Given the description of an element on the screen output the (x, y) to click on. 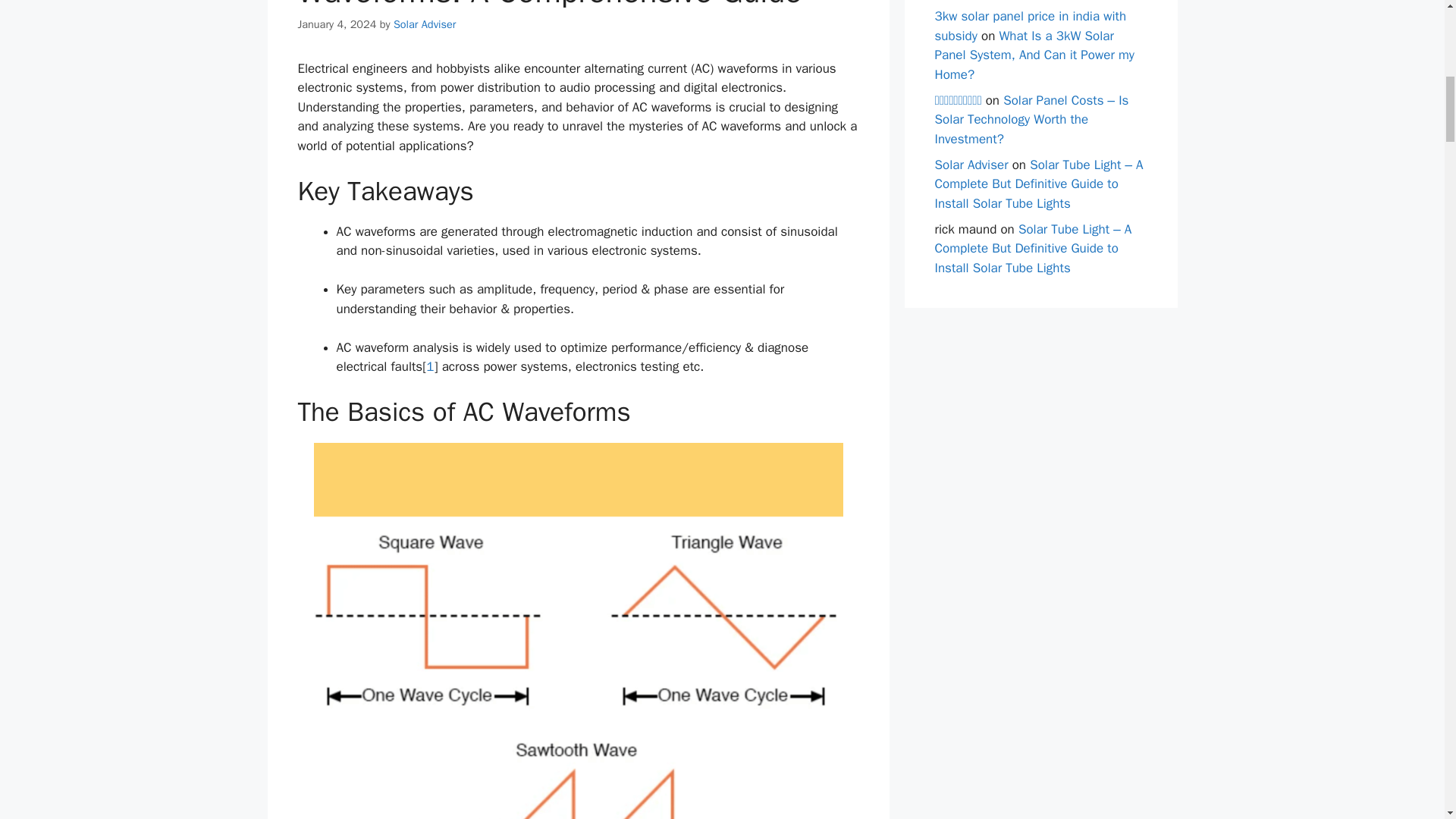
What Is a 3kW Solar Panel System, And Can it Power my Home? (1034, 54)
Solar Adviser (424, 24)
View all posts by Solar Adviser (424, 24)
3kw solar panel price in india with subsidy (1029, 26)
Solar Adviser (970, 163)
